Given the description of an element on the screen output the (x, y) to click on. 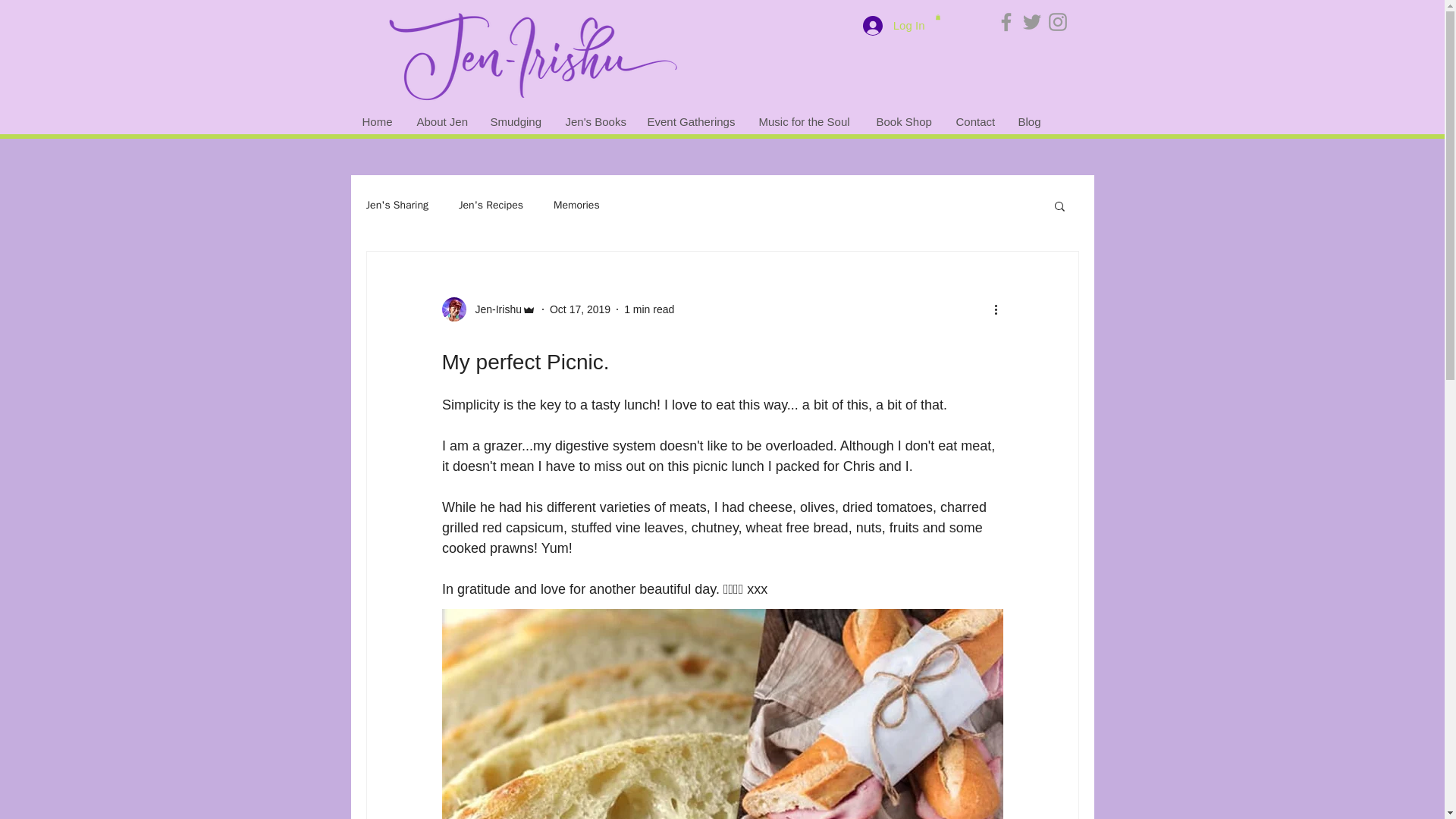
Oct 17, 2019 (580, 309)
Book Shop (903, 121)
Log In (893, 24)
Jen's Recipes (490, 205)
Event Gatherings (690, 121)
Blog (1029, 121)
Jen-Irishu (493, 309)
Contact (975, 121)
About Jen (441, 121)
Jen's Books (593, 121)
